Given the description of an element on the screen output the (x, y) to click on. 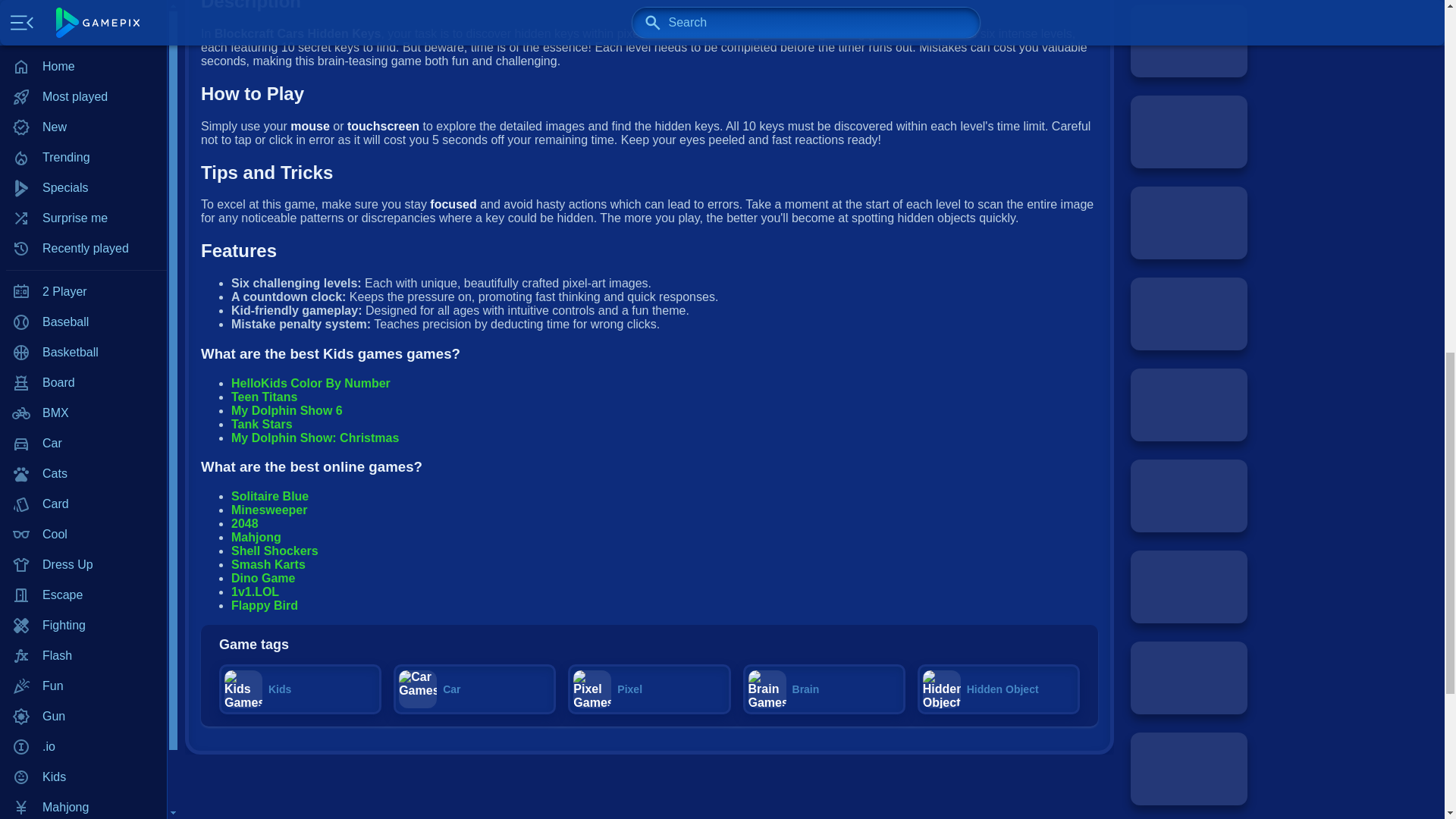
Snake (83, 261)
Poker (83, 79)
Shooter (83, 200)
RPG (83, 170)
Math (83, 49)
War (83, 322)
Word (83, 352)
Mario (83, 19)
Solitaire (83, 231)
Zombie (83, 382)
Soccer (83, 291)
Puzzle (83, 110)
Racing (83, 140)
Mahjong (83, 2)
